Given the description of an element on the screen output the (x, y) to click on. 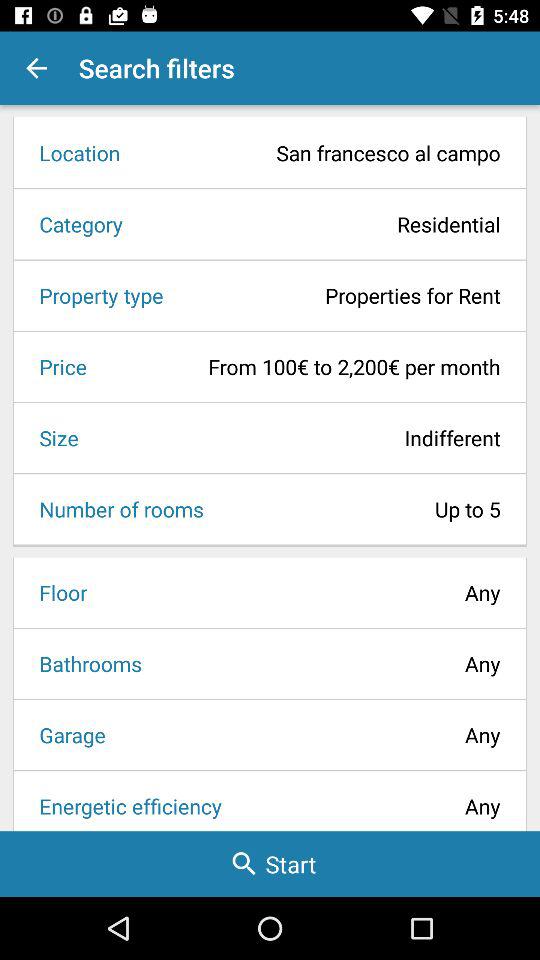
turn off the item to the left of the san francesco al item (73, 152)
